Given the description of an element on the screen output the (x, y) to click on. 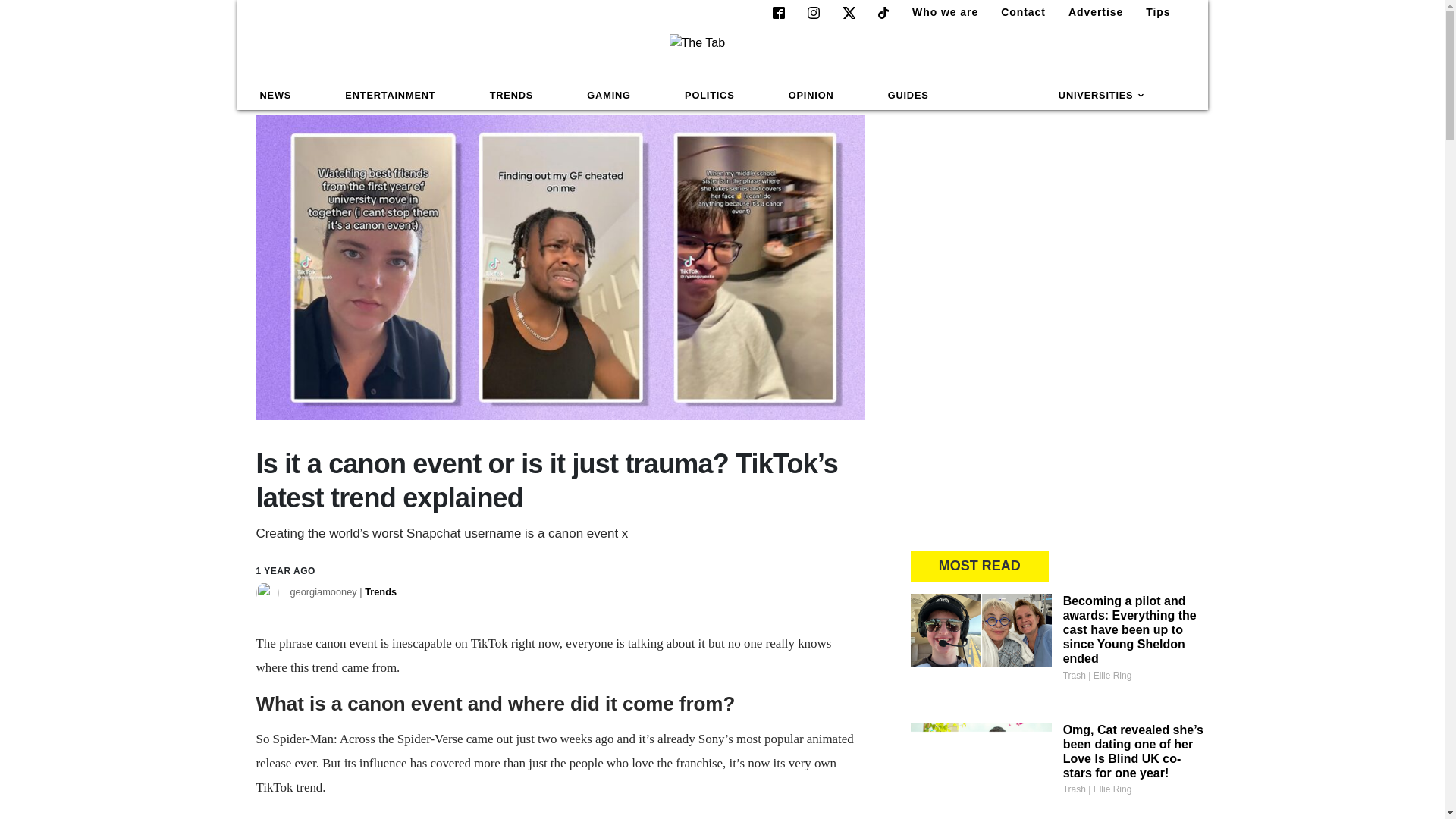
OPINION (811, 95)
UNIVERSITIES (1101, 95)
TRENDS (511, 95)
Posts by georgiamooney (342, 593)
GAMING (608, 95)
NEWS (275, 95)
Advertise (1089, 11)
Contact (1016, 11)
Who we are (938, 11)
GUIDES (908, 95)
